Given the description of an element on the screen output the (x, y) to click on. 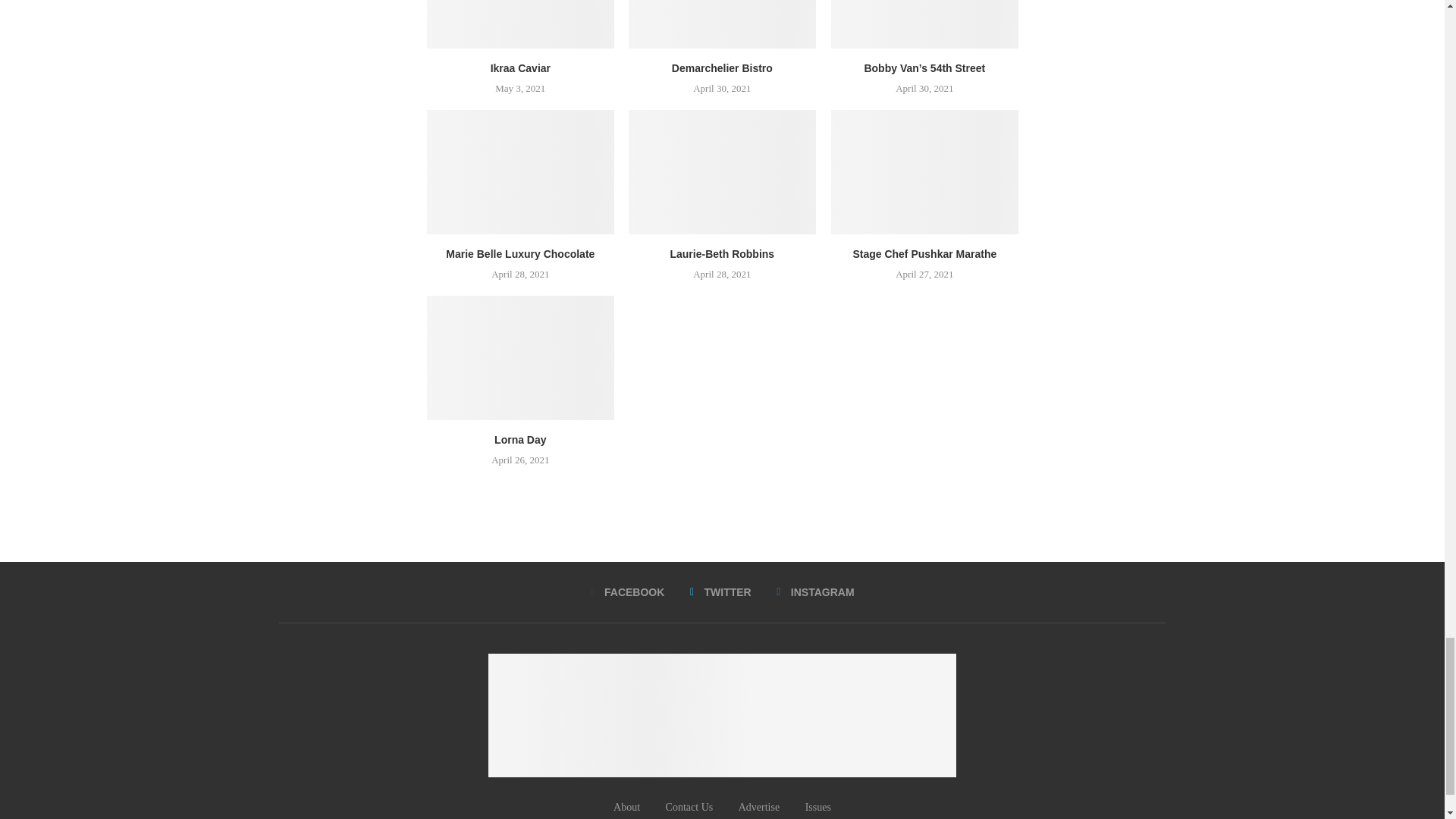
Demarchelier Bistro (721, 24)
Laurie-Beth Robbins (721, 171)
Marie Belle Luxury Chocolate (519, 171)
Stage Chef Pushkar Marathe (924, 171)
Lorna Day (519, 357)
Ikraa Caviar (519, 24)
